Given the description of an element on the screen output the (x, y) to click on. 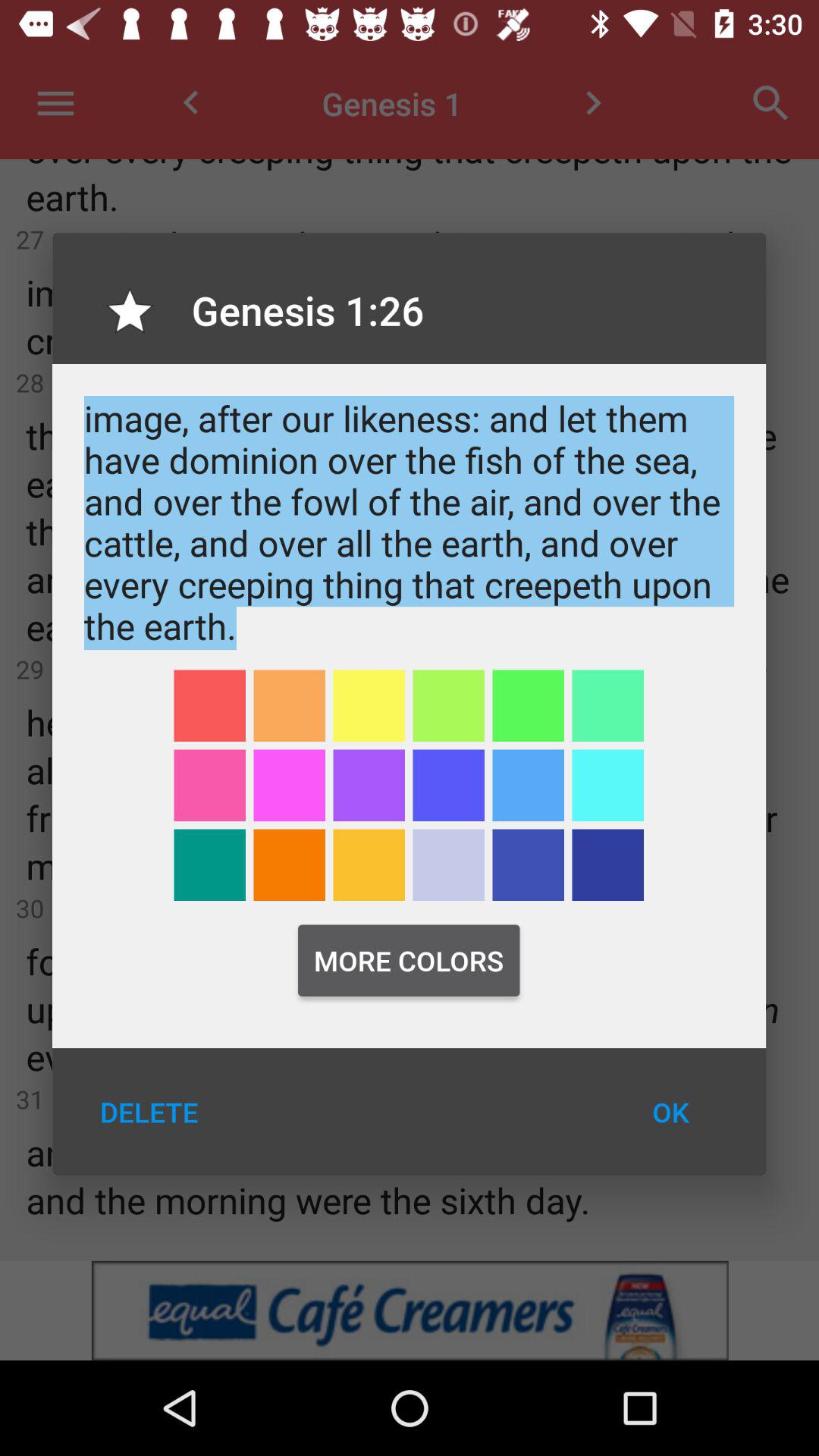
select color (209, 785)
